Given the description of an element on the screen output the (x, y) to click on. 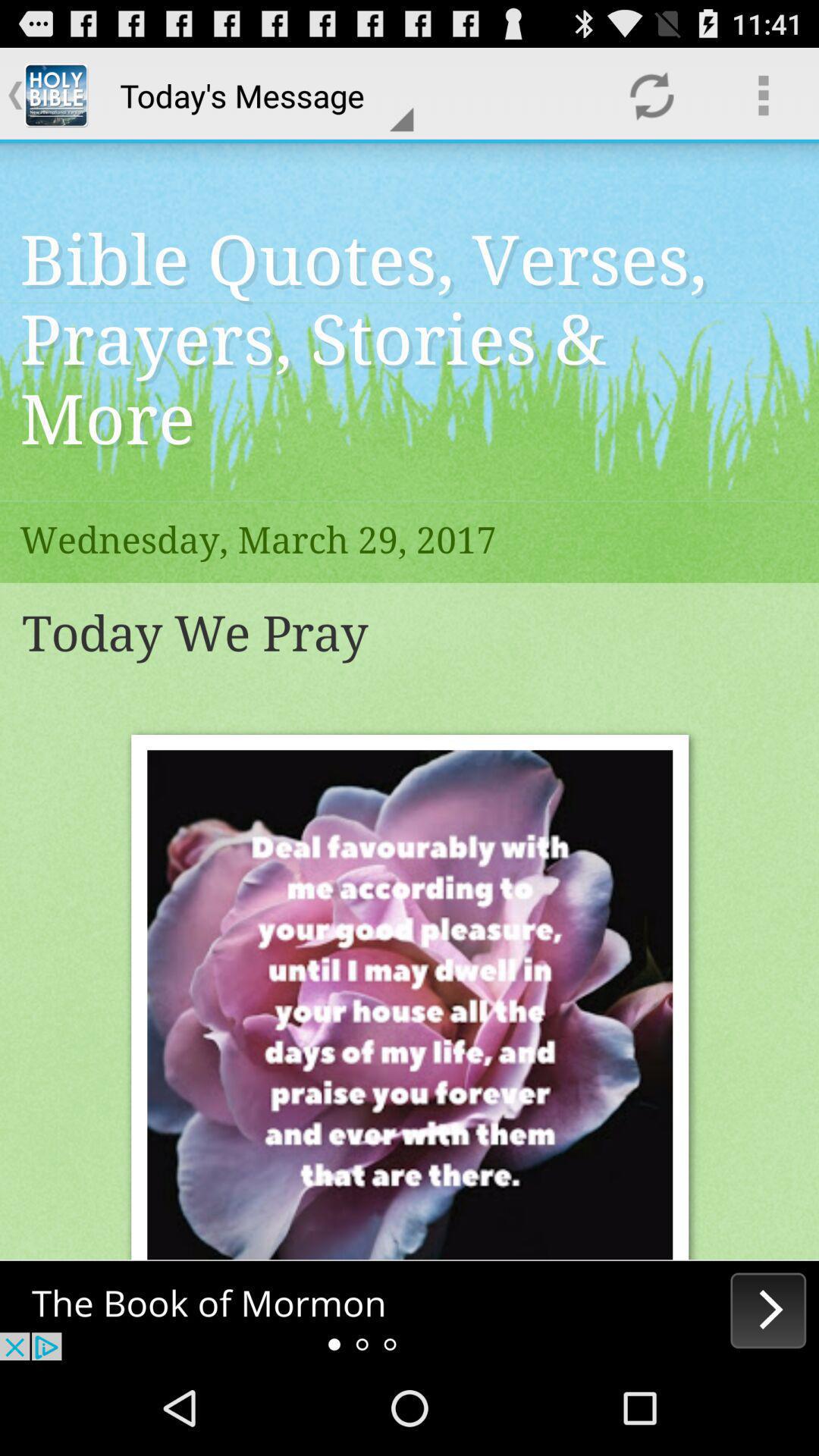
go to advertisement (409, 1310)
